Given the description of an element on the screen output the (x, y) to click on. 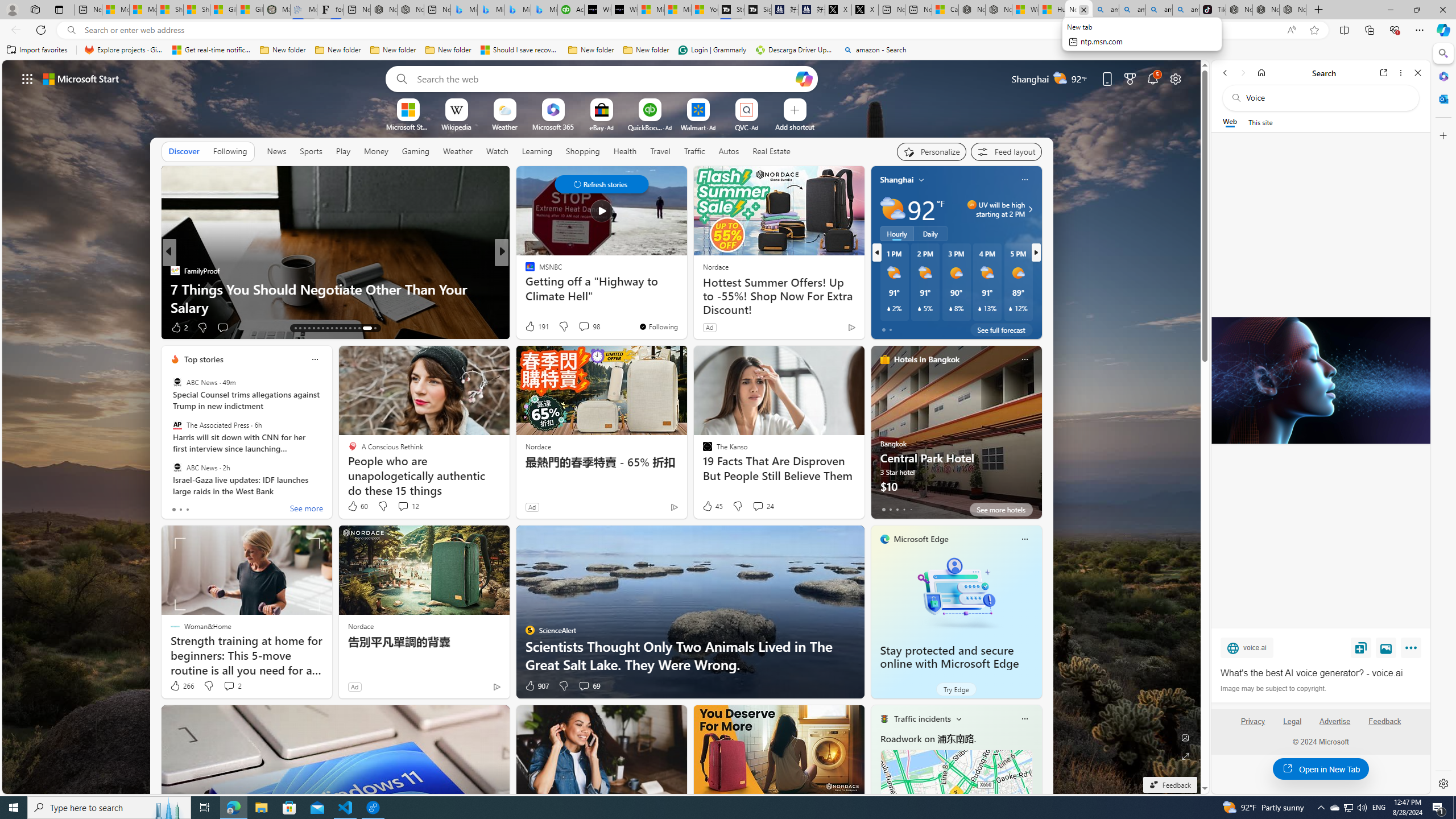
AutomationID: tab-15 (304, 328)
Microsoft rewards (1129, 78)
Personalize your feed" (931, 151)
This site scope (1259, 121)
Autos (729, 151)
Open in New Tab (1321, 768)
Partly sunny (892, 208)
Learning (537, 151)
AutomationID: tab-22 (336, 328)
Favorites bar (715, 49)
